Given the description of an element on the screen output the (x, y) to click on. 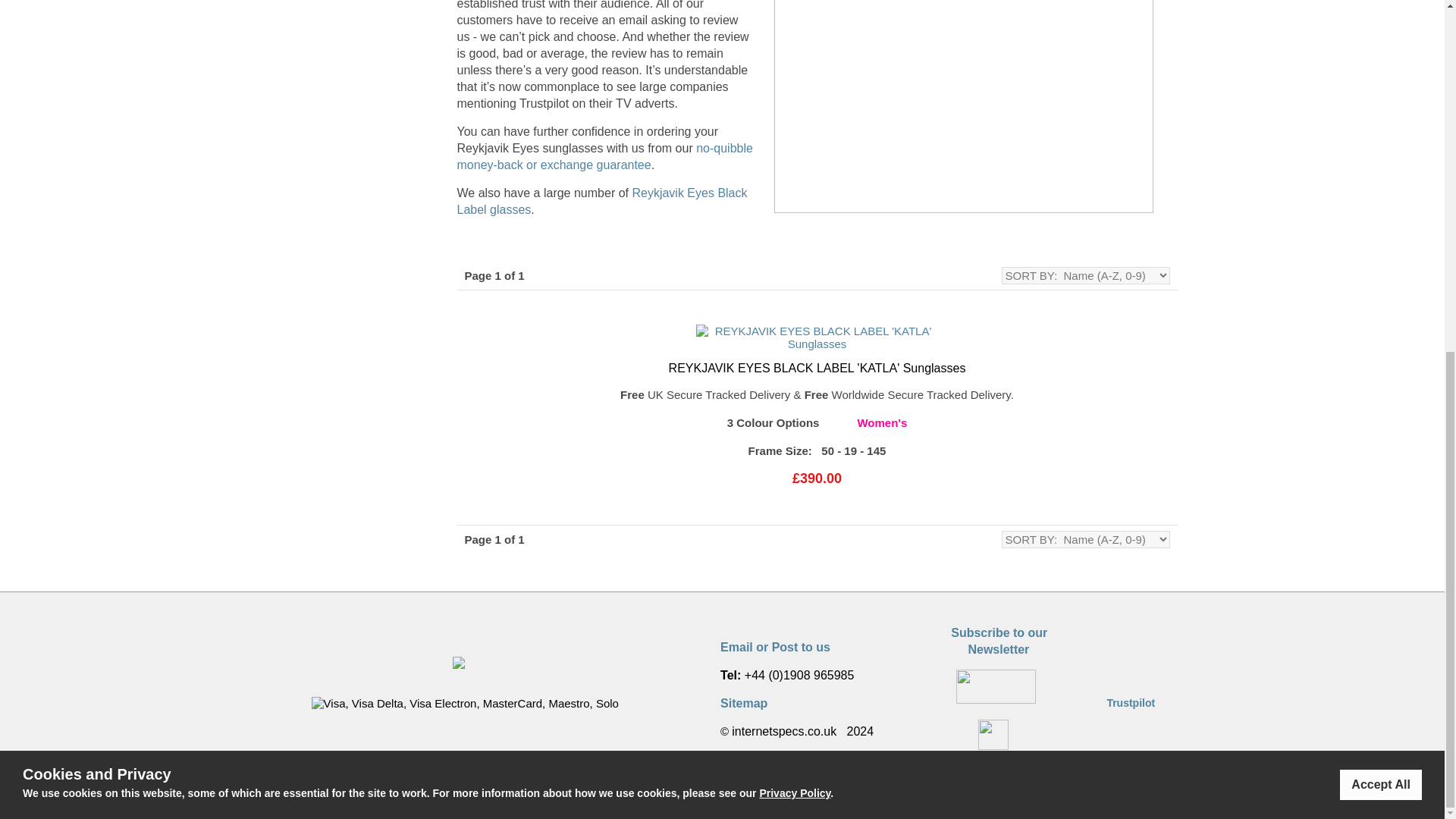
Sitemap (743, 702)
Email or Post to us (774, 645)
Trustpilot (601, 201)
REYKJAVIK EYES BLACK LABEL 'KATLA' Sunglasses (1130, 702)
